Given the description of an element on the screen output the (x, y) to click on. 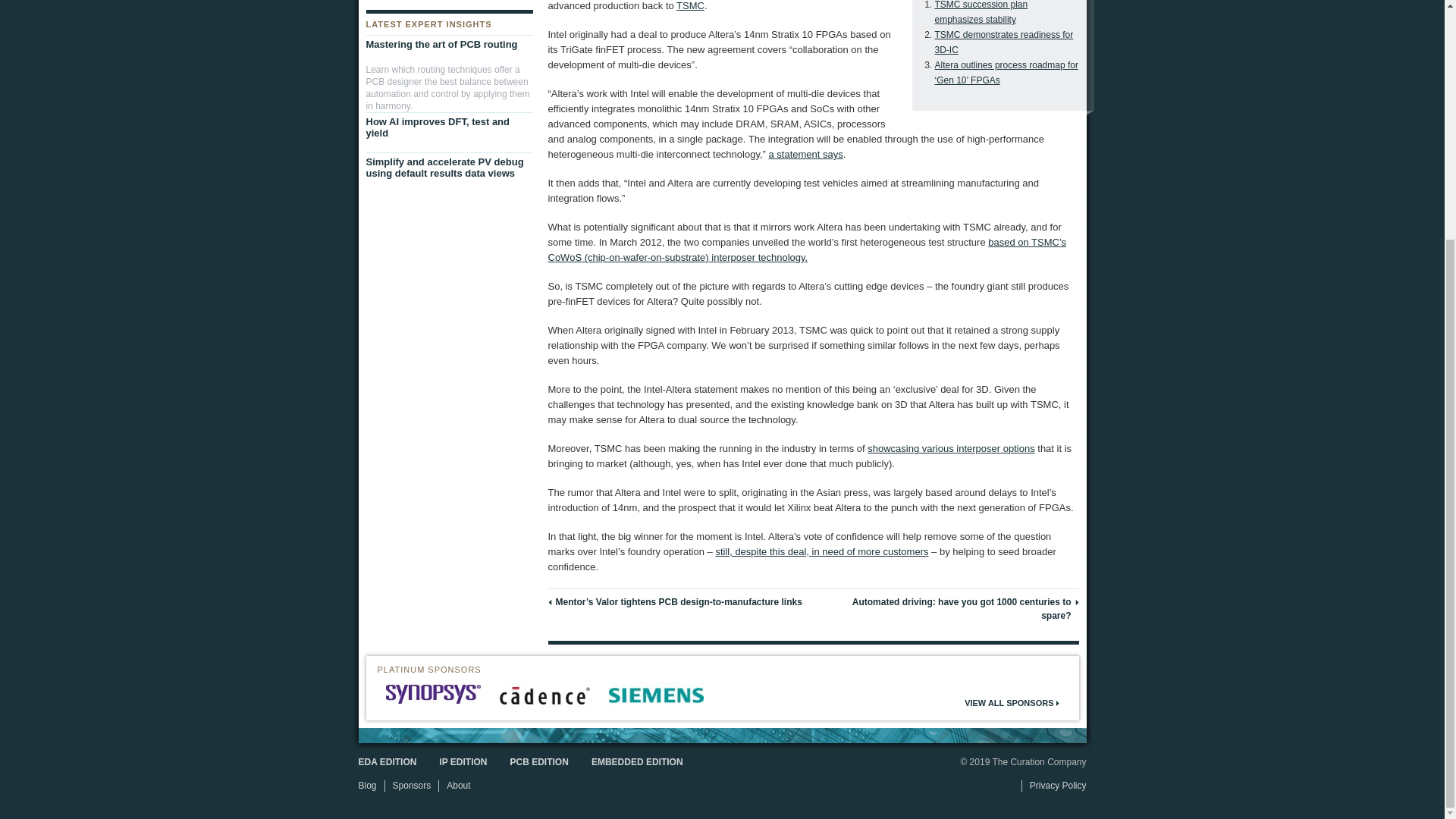
still, despite this deal, in need of more customers (821, 551)
Mastering the art of PCB routing (445, 44)
a statement says (805, 153)
Cadence Design Systems (544, 695)
showcasing various interposer options (950, 448)
Siemens EDA (655, 695)
Permalink to Mastering the art of PCB routing (445, 44)
Synopsys (432, 693)
